Given the description of an element on the screen output the (x, y) to click on. 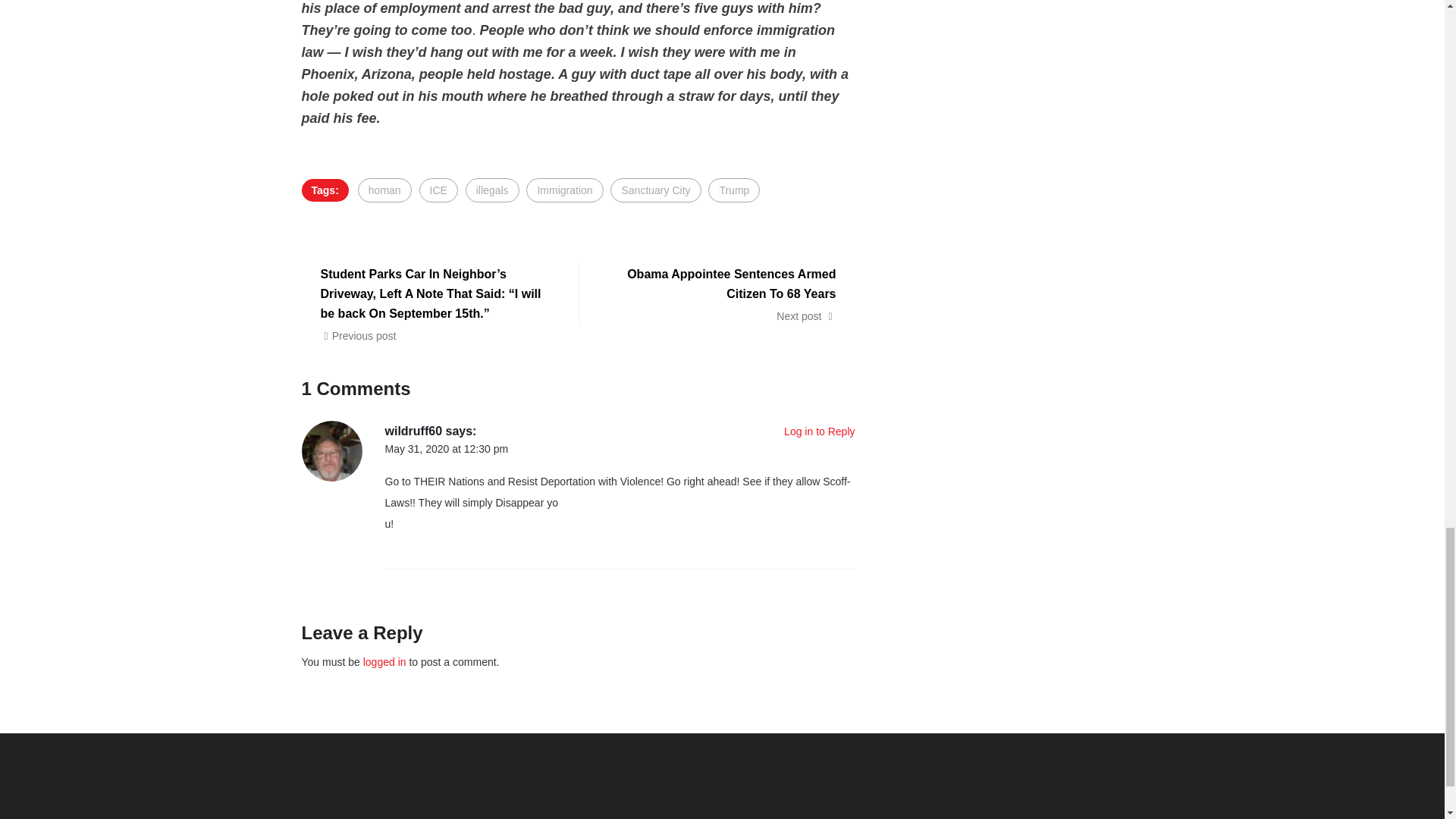
Log in to Reply (819, 431)
homan (385, 190)
Sanctuary City (655, 190)
illegals (492, 190)
Immigration (563, 190)
Trump (733, 190)
ICE (438, 190)
